Given the description of an element on the screen output the (x, y) to click on. 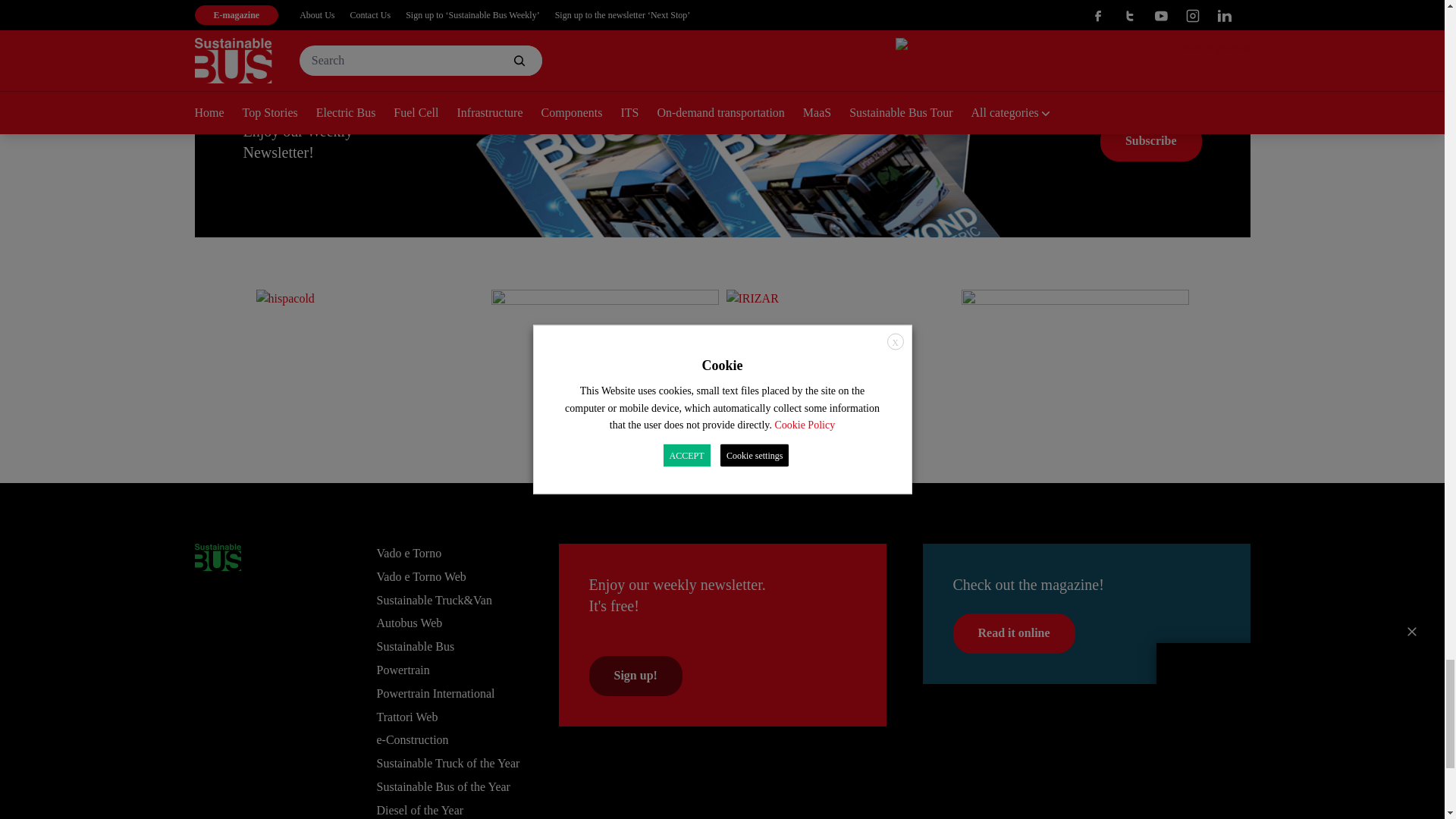
Sustainable Bus (216, 556)
